Given the description of an element on the screen output the (x, y) to click on. 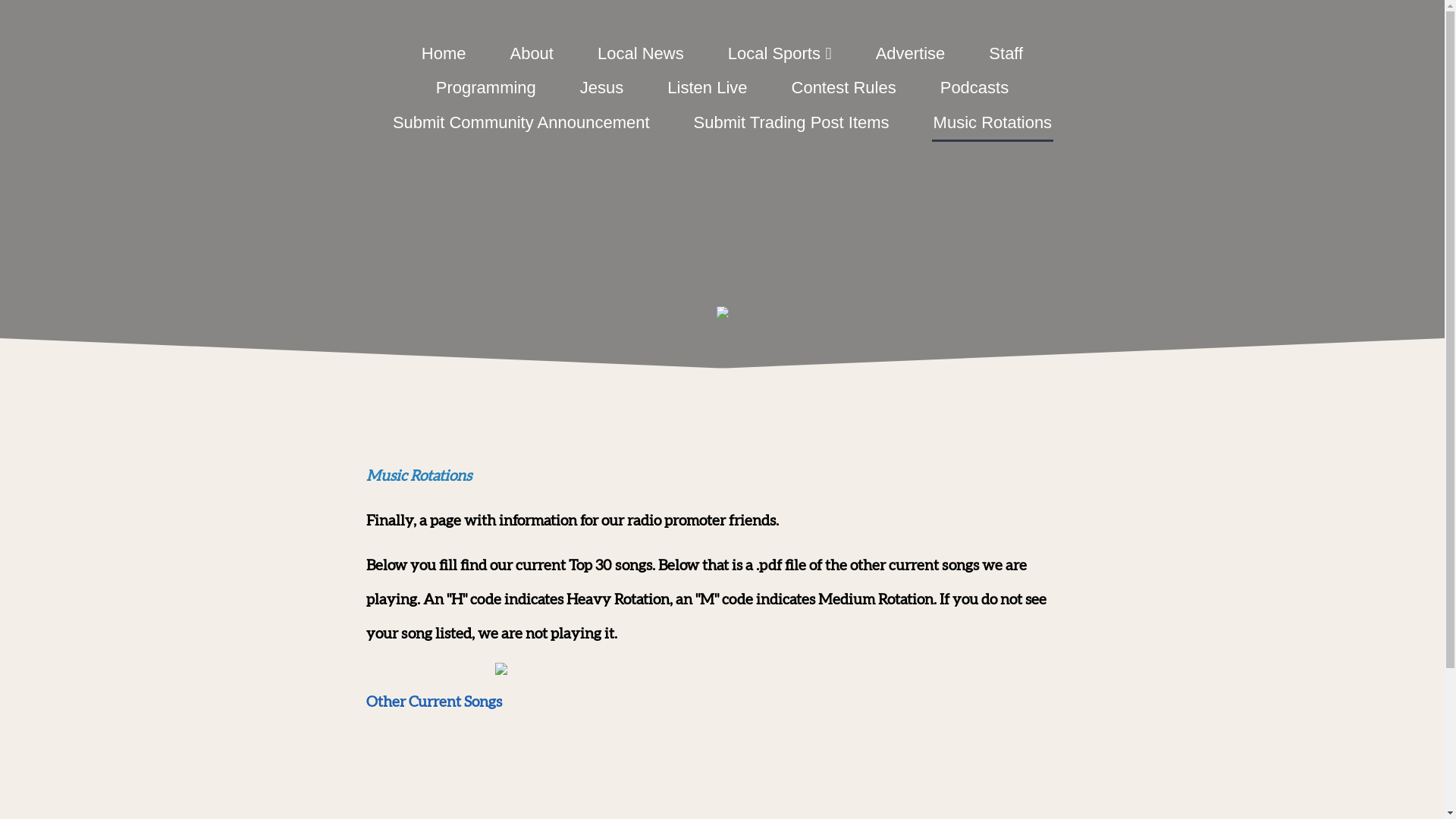
Programming Element type: text (485, 87)
Submit Community Announcement Element type: text (521, 122)
Staff Element type: text (1005, 53)
Local Sports Element type: text (779, 53)
Home Element type: text (443, 53)
About Element type: text (531, 53)
Other Current Songs Element type: text (433, 701)
Listen Live Element type: text (706, 87)
Jesus Element type: text (601, 87)
Contest Rules Element type: text (843, 87)
Submit Trading Post Items Element type: text (791, 122)
Podcasts Element type: text (974, 87)
Advertise Element type: text (910, 53)
Local News Element type: text (640, 53)
Music Rotations Element type: text (992, 123)
